Given the description of an element on the screen output the (x, y) to click on. 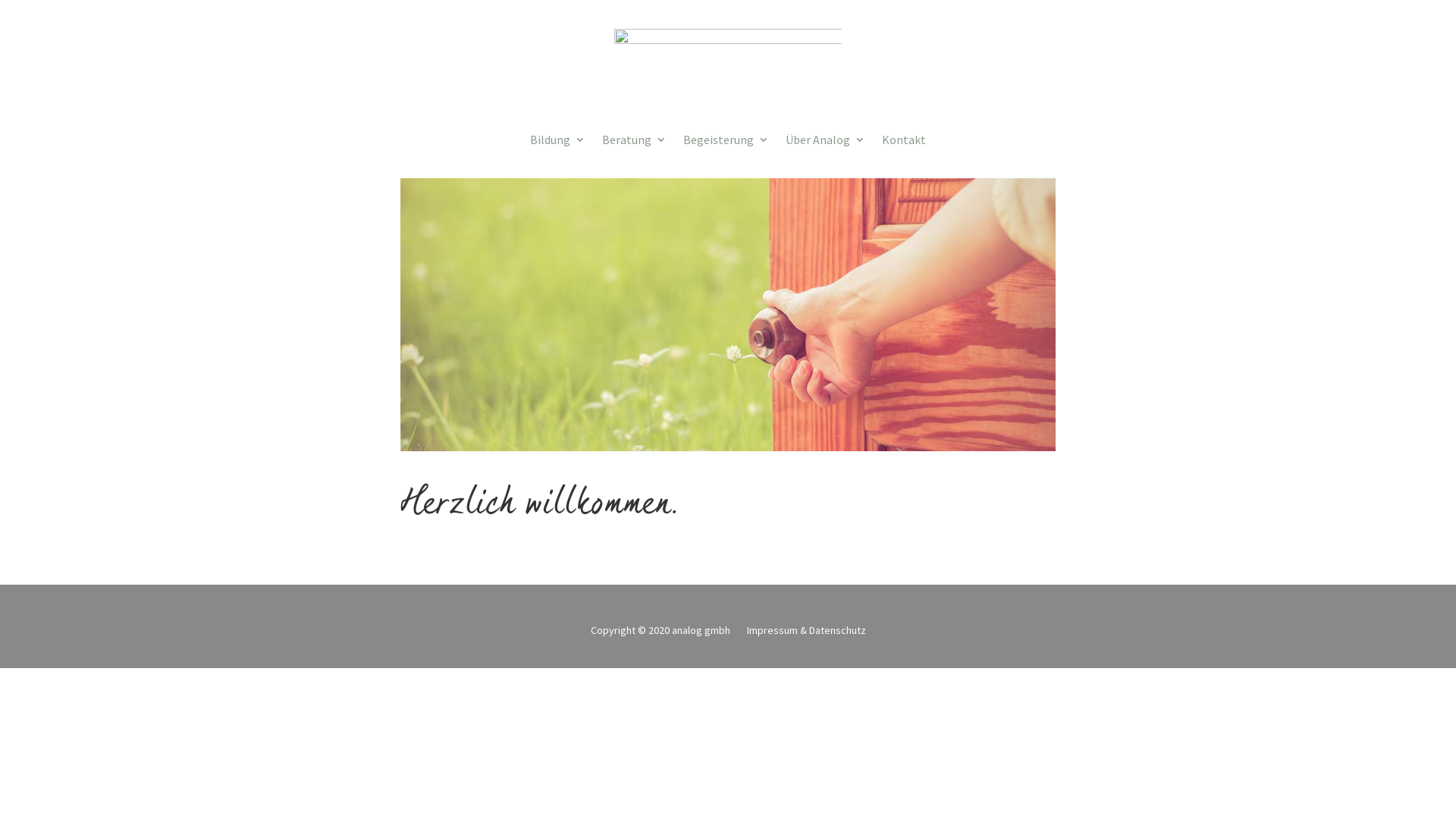
Begeisterung Element type: text (725, 142)
Bildung Element type: text (557, 142)
Kontakt Element type: text (903, 142)
Impressum & Datenschutz Element type: text (805, 632)
Beratung Element type: text (634, 142)
analog_titelbild Element type: hover (727, 314)
